Given the description of an element on the screen output the (x, y) to click on. 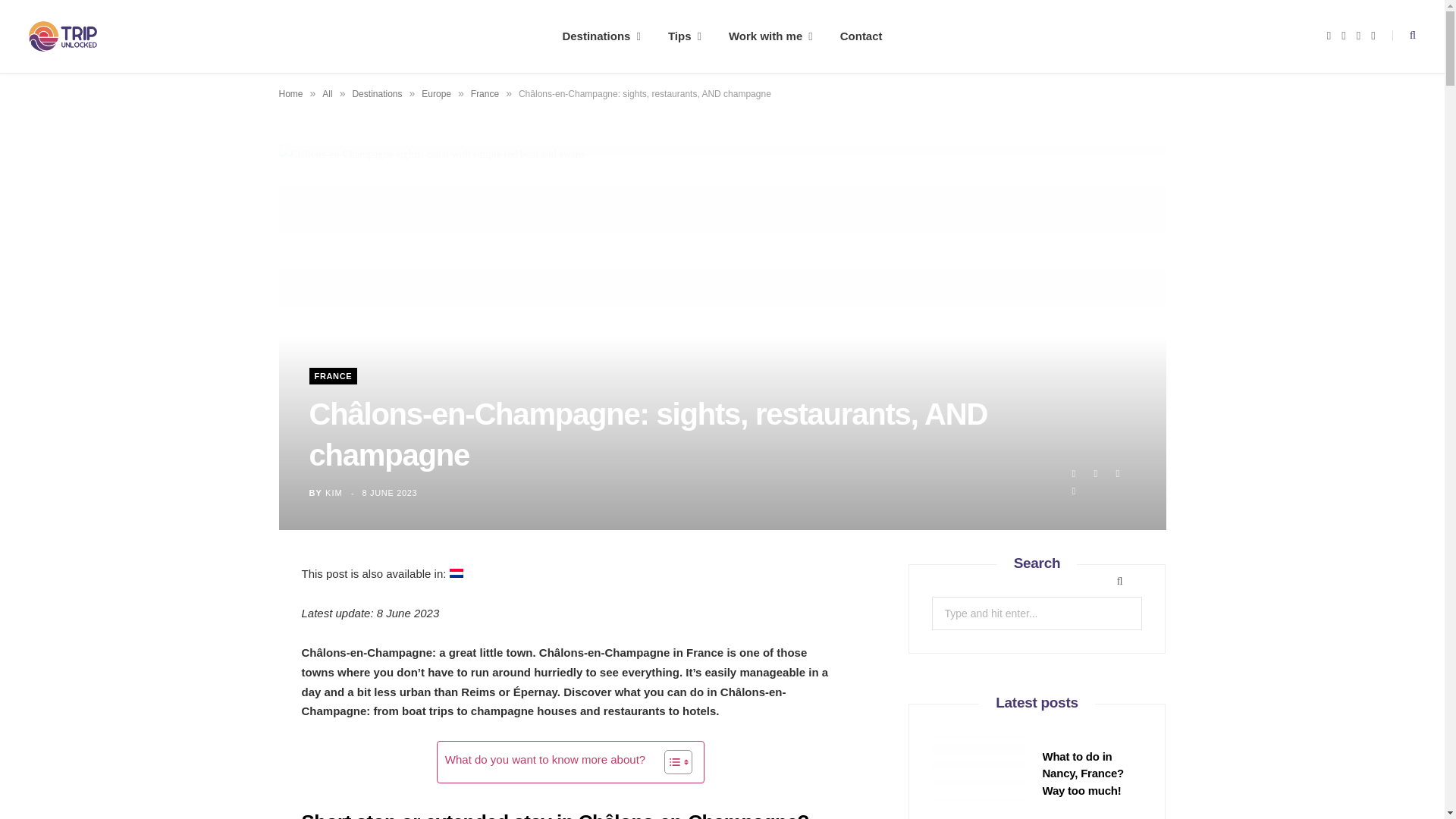
Email (1073, 490)
Work with me (770, 36)
Pinterest (1117, 473)
Trip Unlocked (63, 35)
Facebook (1073, 473)
Destinations (600, 36)
Posts by Kim (333, 492)
Contact (861, 36)
Twitter (1095, 473)
